Given the description of an element on the screen output the (x, y) to click on. 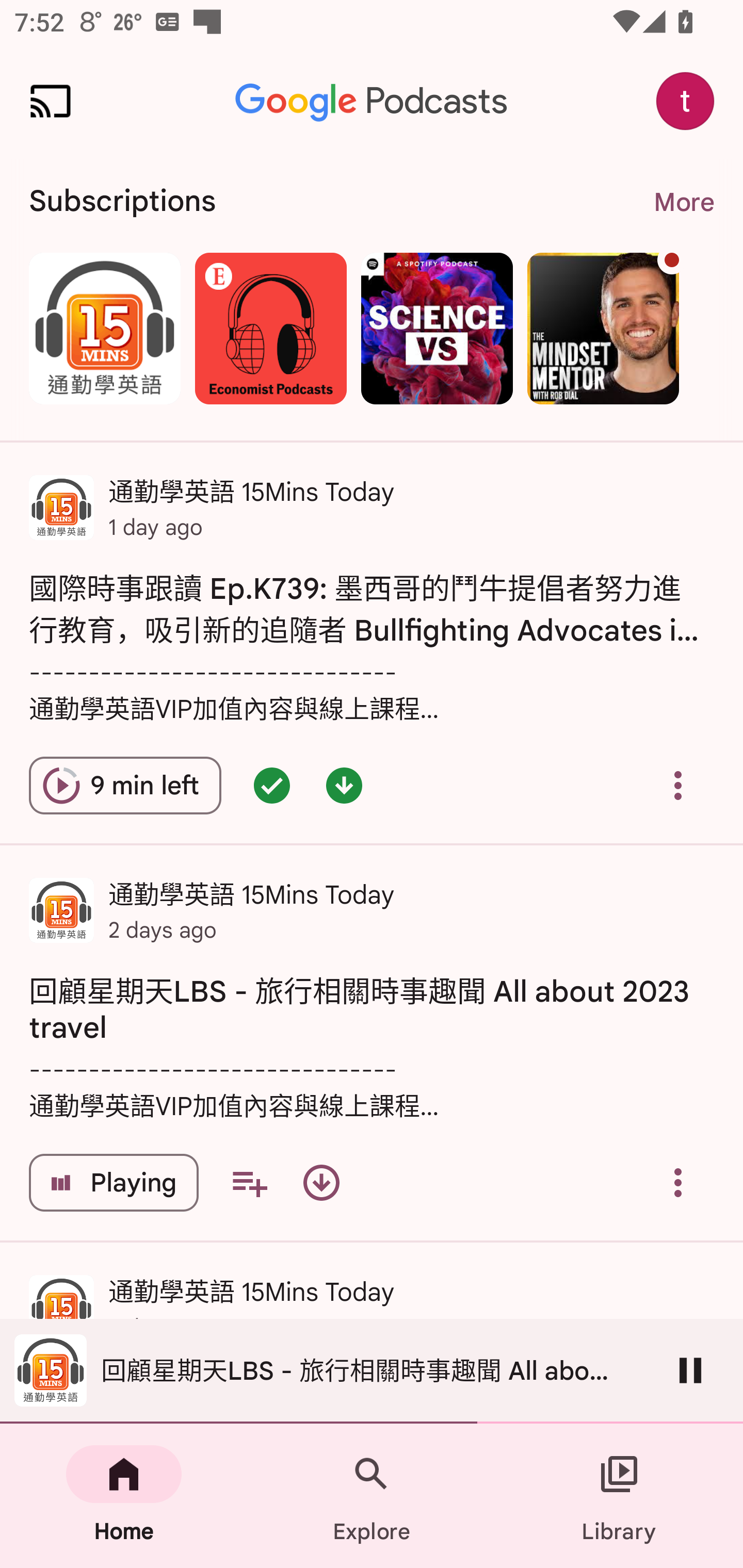
Cast. Disconnected (50, 101)
More More. Navigate to subscriptions page. (683, 202)
通勤學英語 15Mins Today (104, 328)
Economist Podcasts (270, 328)
Science Vs (436, 328)
The Mindset Mentor (603, 328)
Episode queued - double tap for options (271, 785)
Episode downloaded - double tap for options (344, 785)
Overflow menu (677, 785)
Add to your queue (249, 1182)
Download episode (321, 1182)
Overflow menu (677, 1182)
Pause (690, 1370)
Explore (371, 1495)
Library (619, 1495)
